Given the description of an element on the screen output the (x, y) to click on. 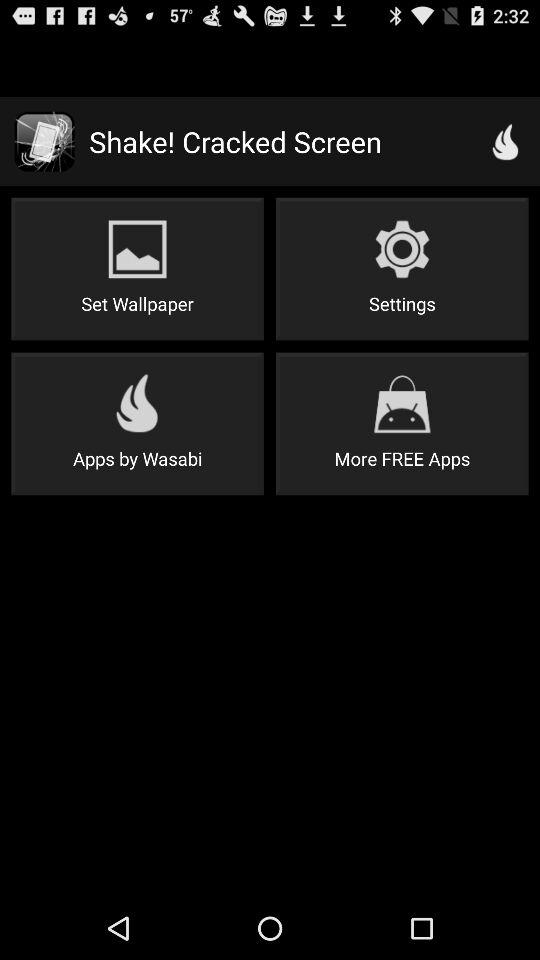
click the set wallpaper icon (137, 268)
